Given the description of an element on the screen output the (x, y) to click on. 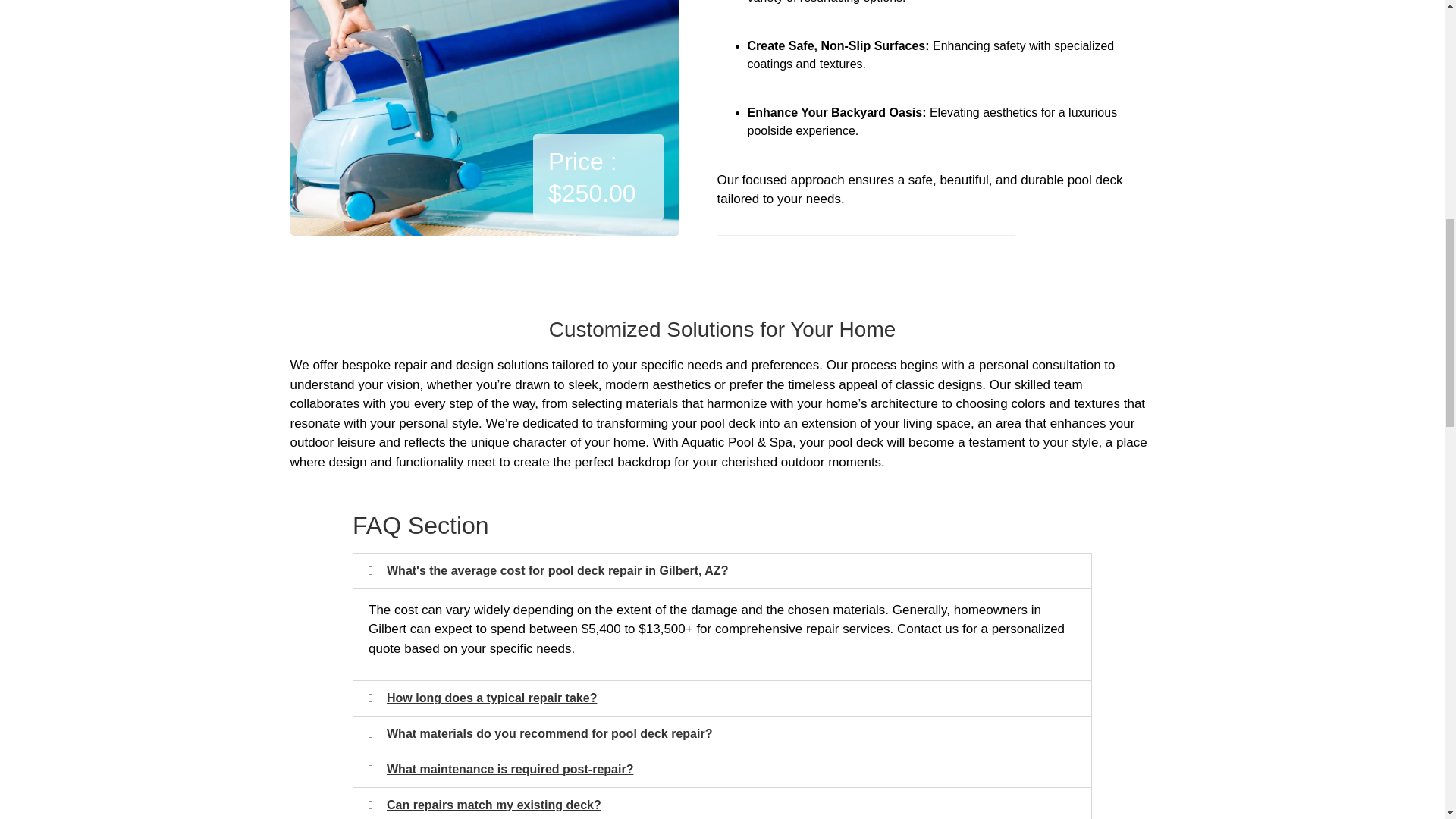
What's the average cost for pool deck repair in Gilbert, AZ? (557, 570)
How long does a typical repair take? (491, 697)
